Given the description of an element on the screen output the (x, y) to click on. 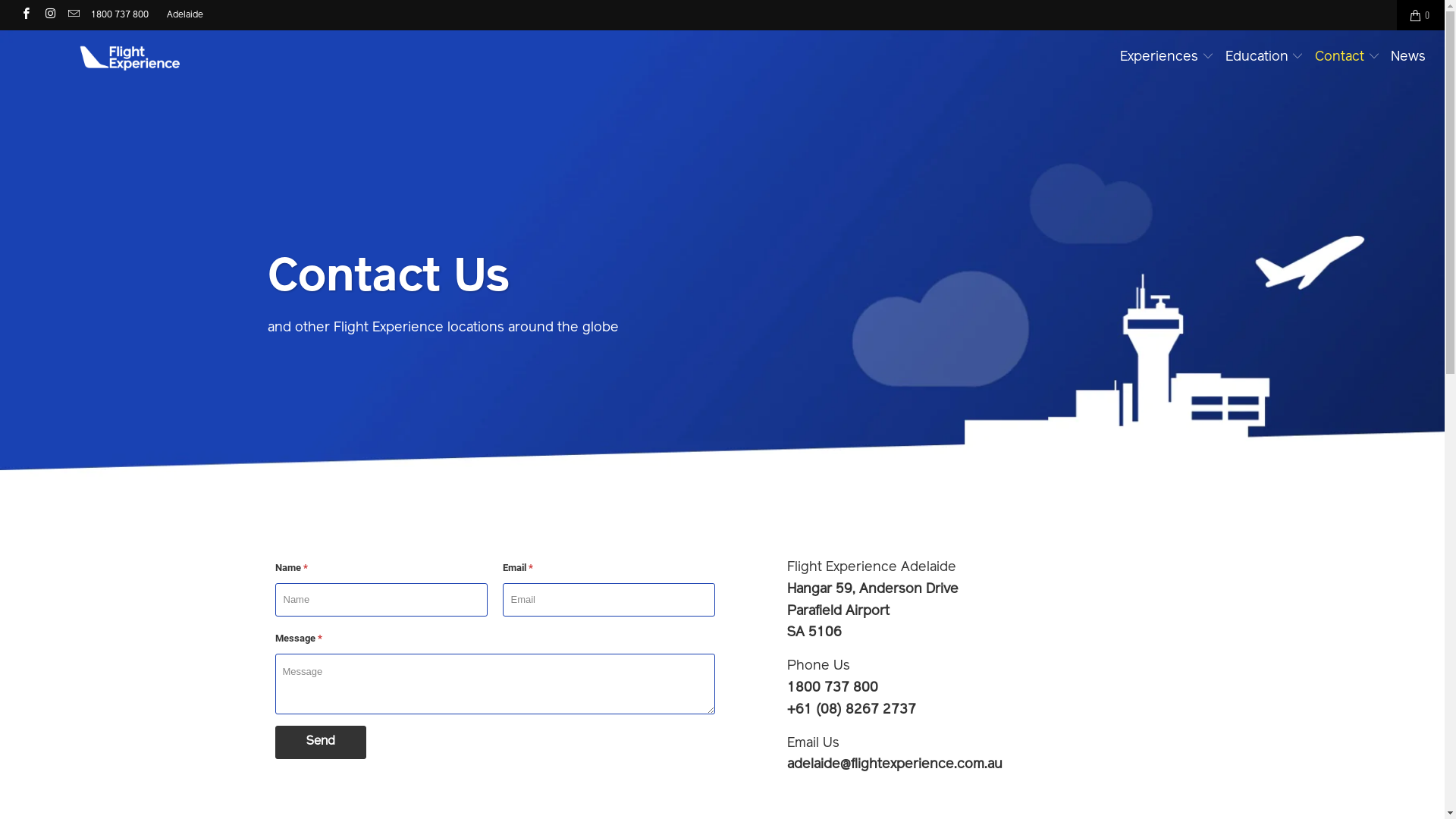
Adelaide Element type: text (184, 15)
Send Element type: text (319, 742)
Experiences Element type: text (1167, 57)
News Element type: text (1407, 57)
0 Element type: text (1420, 15)
Flight Experience Adelaide on Instagram Element type: hover (48, 14)
Education Element type: text (1264, 57)
1800 737 800 Element type: text (119, 15)
Flight Experience Adelaide on Facebook Element type: hover (24, 14)
Contact Element type: text (1347, 57)
Flight Experience Adelaide Element type: hover (123, 55)
Email Flight Experience Adelaide Element type: hover (72, 14)
